Given the description of an element on the screen output the (x, y) to click on. 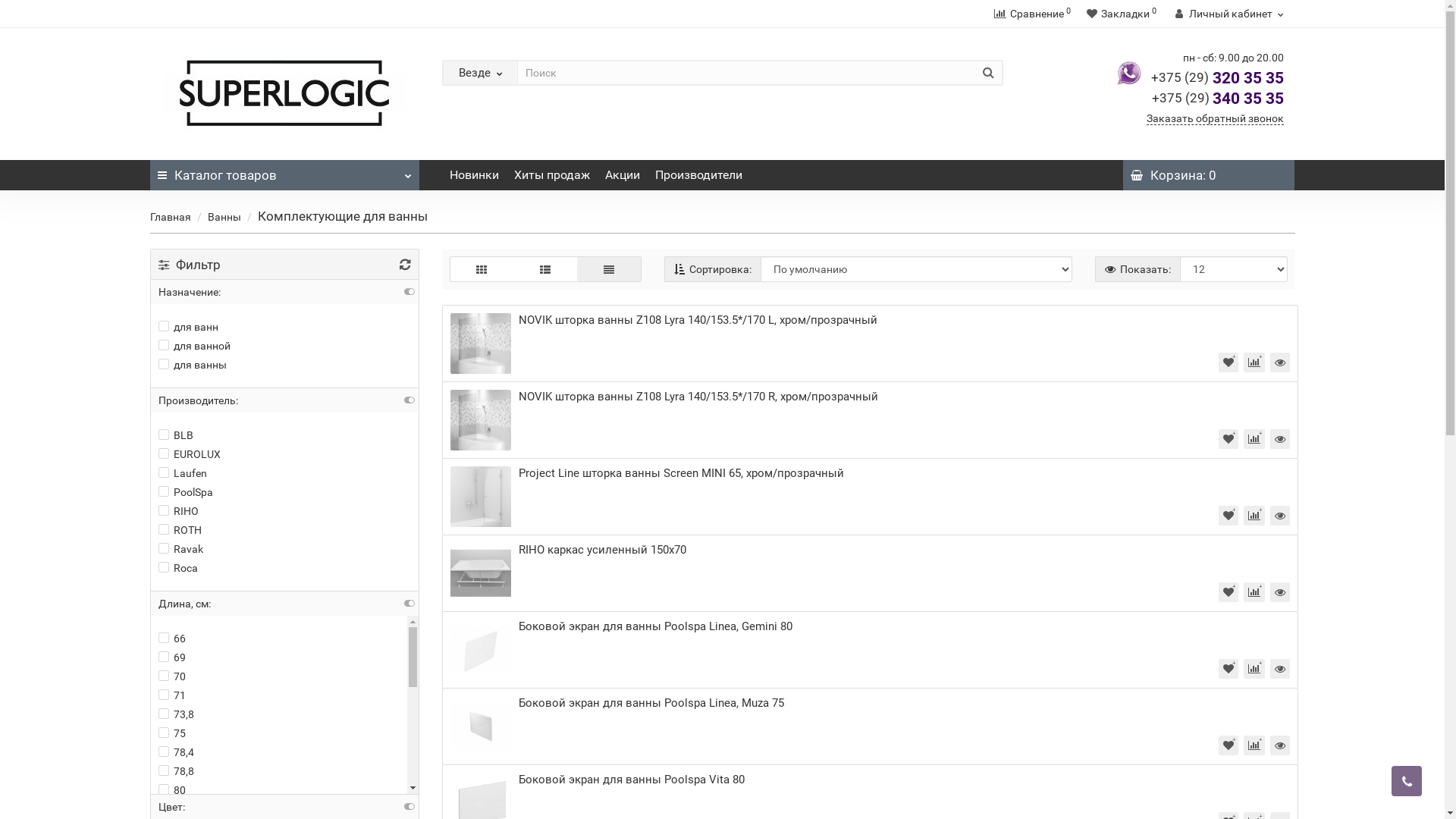
+375 (29) 340 35 35 Element type: text (1217, 98)
+375 (29) 320 35 35 Element type: text (1217, 78)
